Given the description of an element on the screen output the (x, y) to click on. 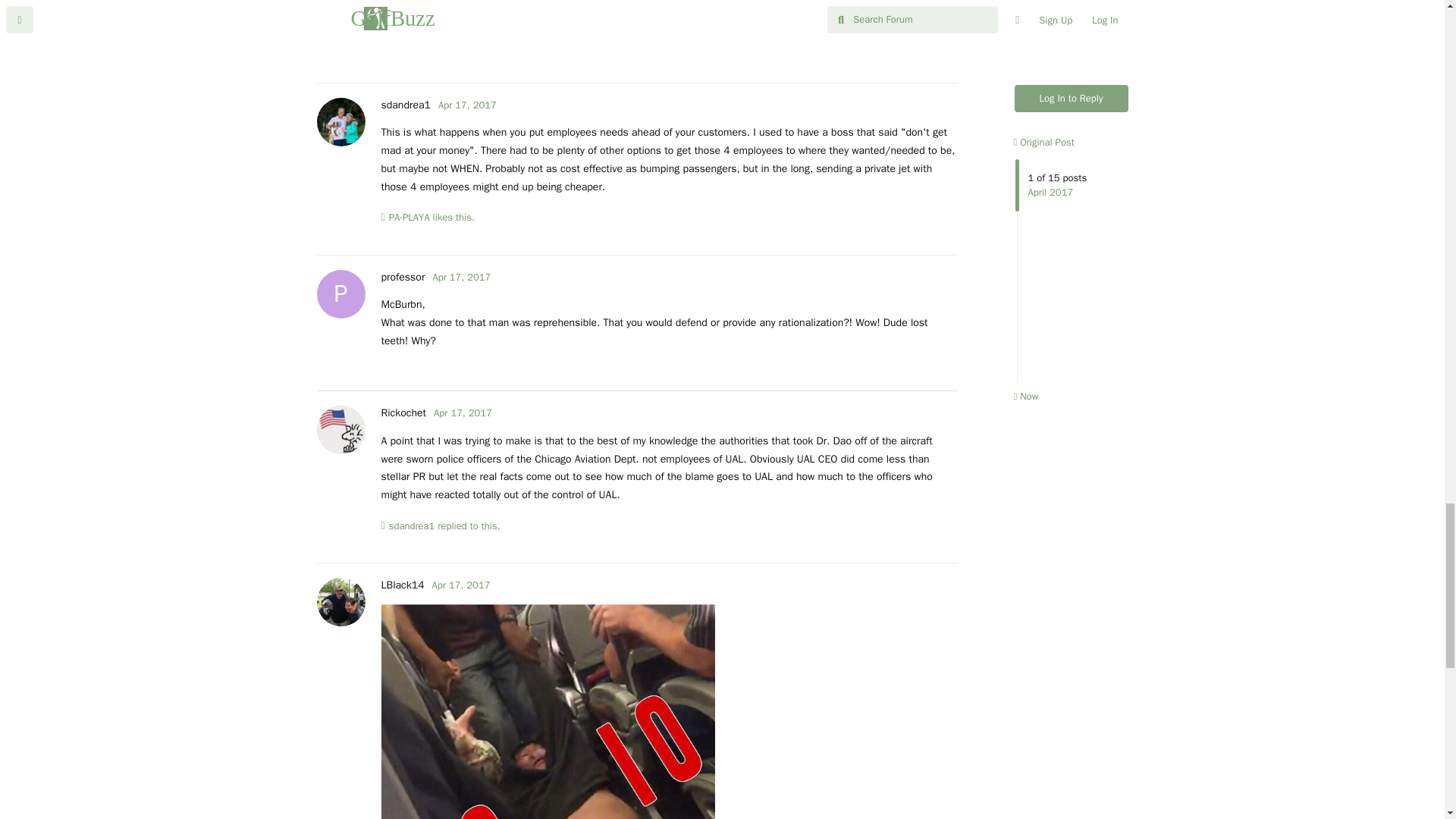
Monday, April 17, 2017 7:29 AM (462, 412)
Monday, April 17, 2017 7:32 AM (461, 584)
Monday, April 17, 2017 5:09 AM (467, 104)
Monday, April 17, 2017 5:33 AM (461, 277)
